Given the description of an element on the screen output the (x, y) to click on. 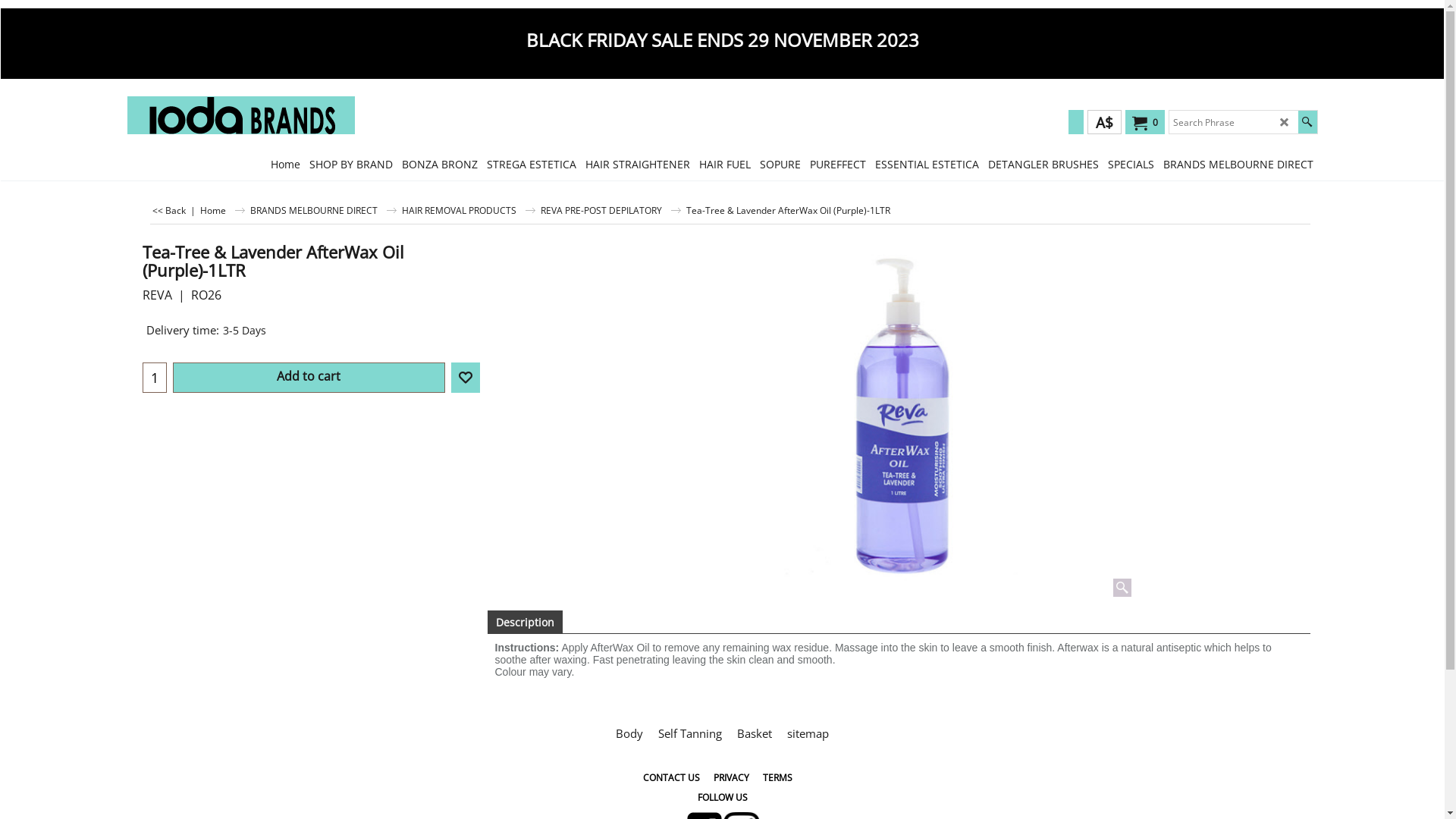
HAIR FUEL Element type: text (724, 163)
 << Back  Element type: text (169, 209)
BONZA BRONZ Element type: text (439, 163)
Basket Element type: text (754, 733)
Description Element type: text (524, 622)
TERMS Element type: text (777, 777)
REVA PRE-POST DEPILATORY Element type: text (609, 209)
0 Element type: text (1141, 122)
1 Element type: text (153, 377)
Tea-Tree & Lavender AfterWax Oil (Purple)-1LTR Element type: text (311, 277)
sitemap Element type: text (807, 733)
Body Element type: text (629, 733)
Home Element type: text (222, 209)
HAIR REMOVAL PRODUCTS Element type: text (468, 209)
HAIR STRAIGHTENER Element type: text (637, 163)
LD_CANCEL Element type: hover (1284, 122)
A$ Element type: text (1104, 121)
PRIVACY Element type: text (731, 777)
SOPURE Element type: text (780, 163)
BRANDS MELBOURNE DIRECT Element type: text (1237, 163)
BRANDS MELBOURNE DIRECT Element type: text (323, 209)
Find Element type: hover (1307, 121)
Home Element type: text (284, 163)
ESSENTIAL ESTETICA Element type: text (926, 163)
DETANGLER BRUSHES Element type: text (1042, 163)
CONTACT US Element type: text (671, 777)
Add to cart Element type: text (307, 377)
PUREFFECT Element type: text (837, 163)
Favorites Element type: hover (464, 377)
SHOP BY BRAND Element type: text (350, 163)
SPECIALS Element type: text (1129, 163)
STREGA ESTETICA Element type: text (531, 163)
Self Tanning Element type: text (689, 733)
